Given the description of an element on the screen output the (x, y) to click on. 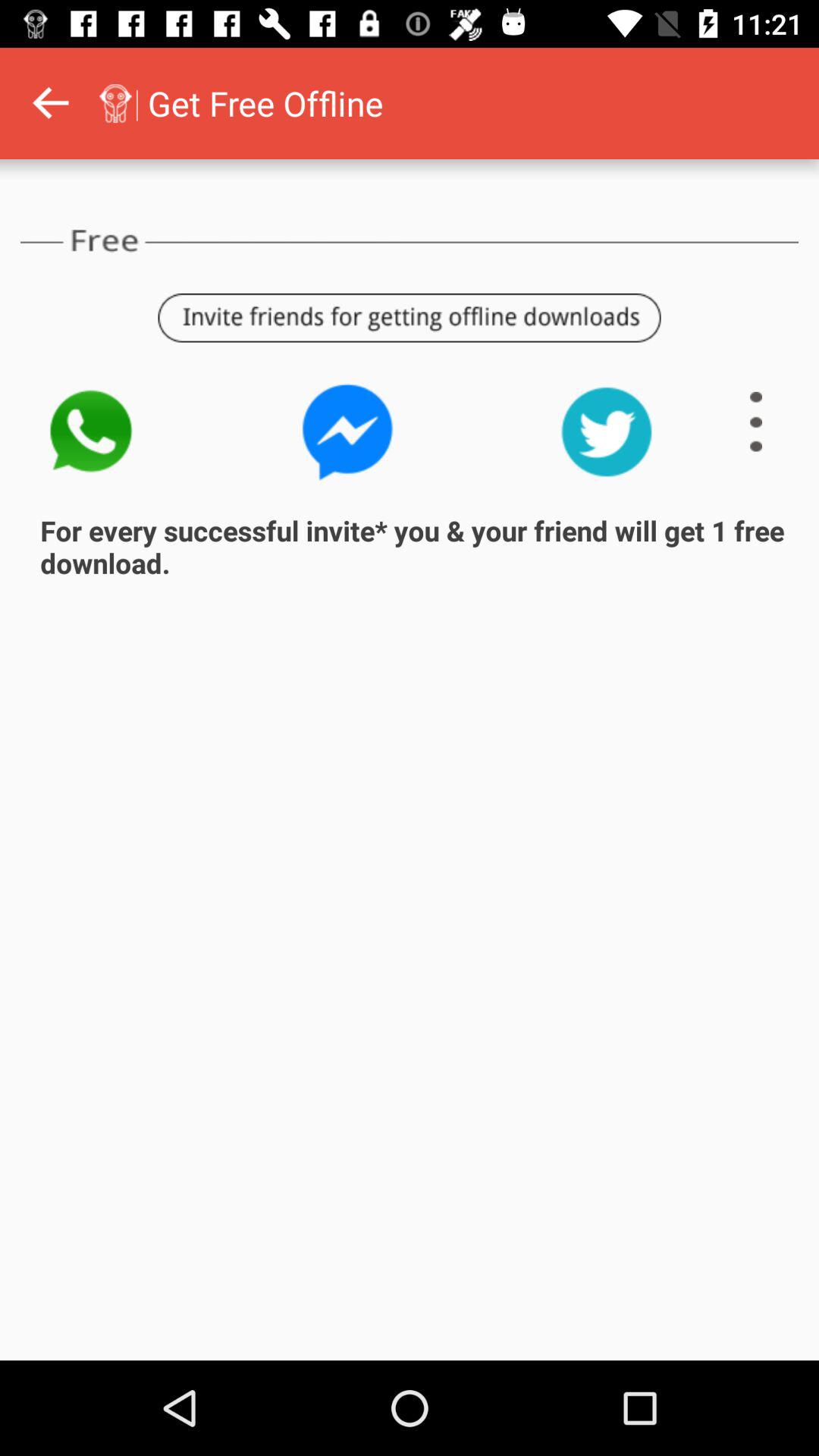
go to back (50, 102)
